Given the description of an element on the screen output the (x, y) to click on. 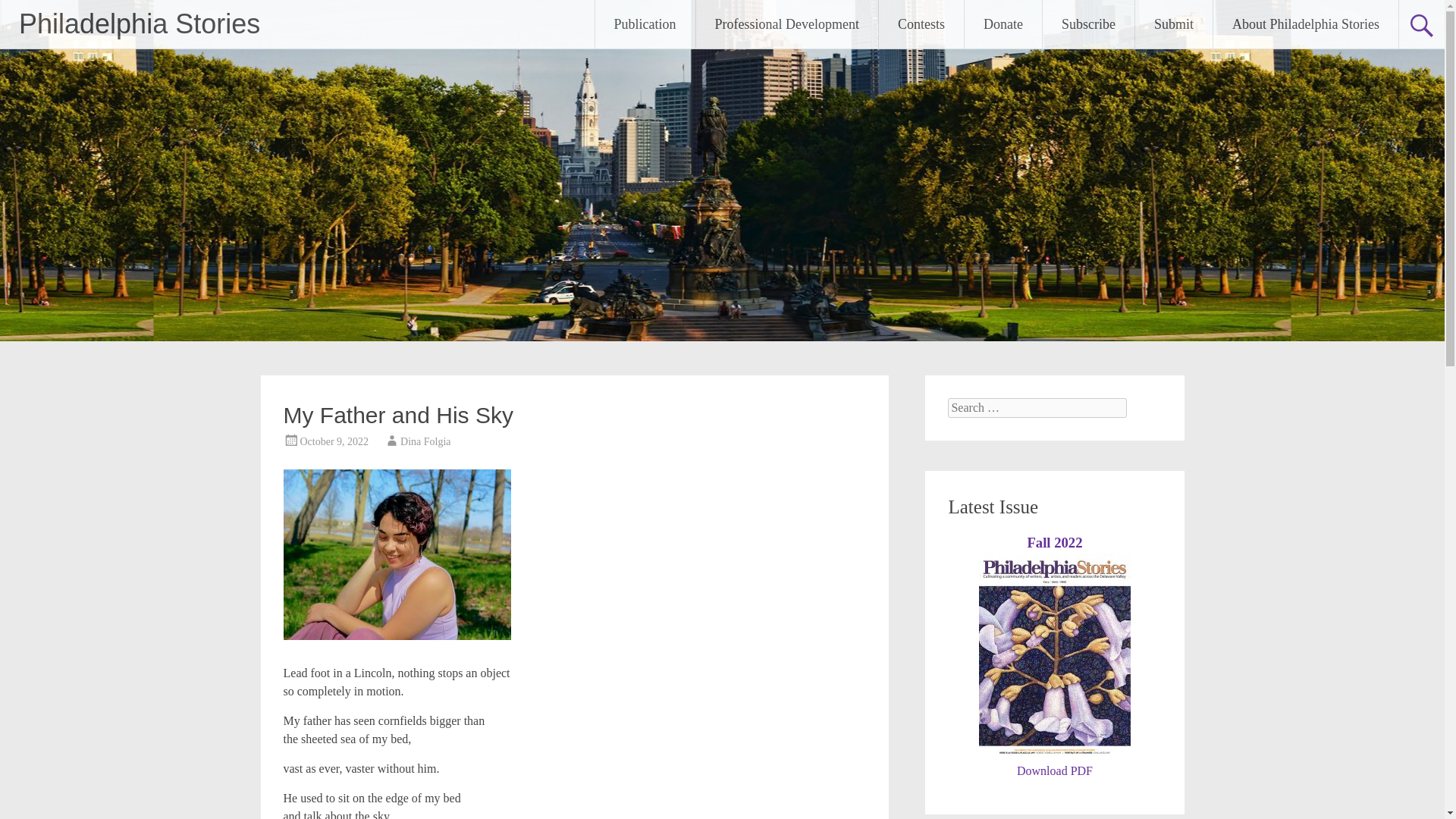
Philadelphia Stories (139, 23)
Download PDF (1054, 770)
About Philadelphia Stories (1304, 24)
Submit (1173, 24)
Search (26, 12)
Philadelphia Stories (139, 23)
Subscribe (1088, 24)
Publication (645, 24)
October 9, 2022 (334, 441)
Dina Folgia (425, 441)
Professional Development (786, 24)
Fall 2022 (1053, 542)
Contests (921, 24)
Donate (1002, 24)
